Given the description of an element on the screen output the (x, y) to click on. 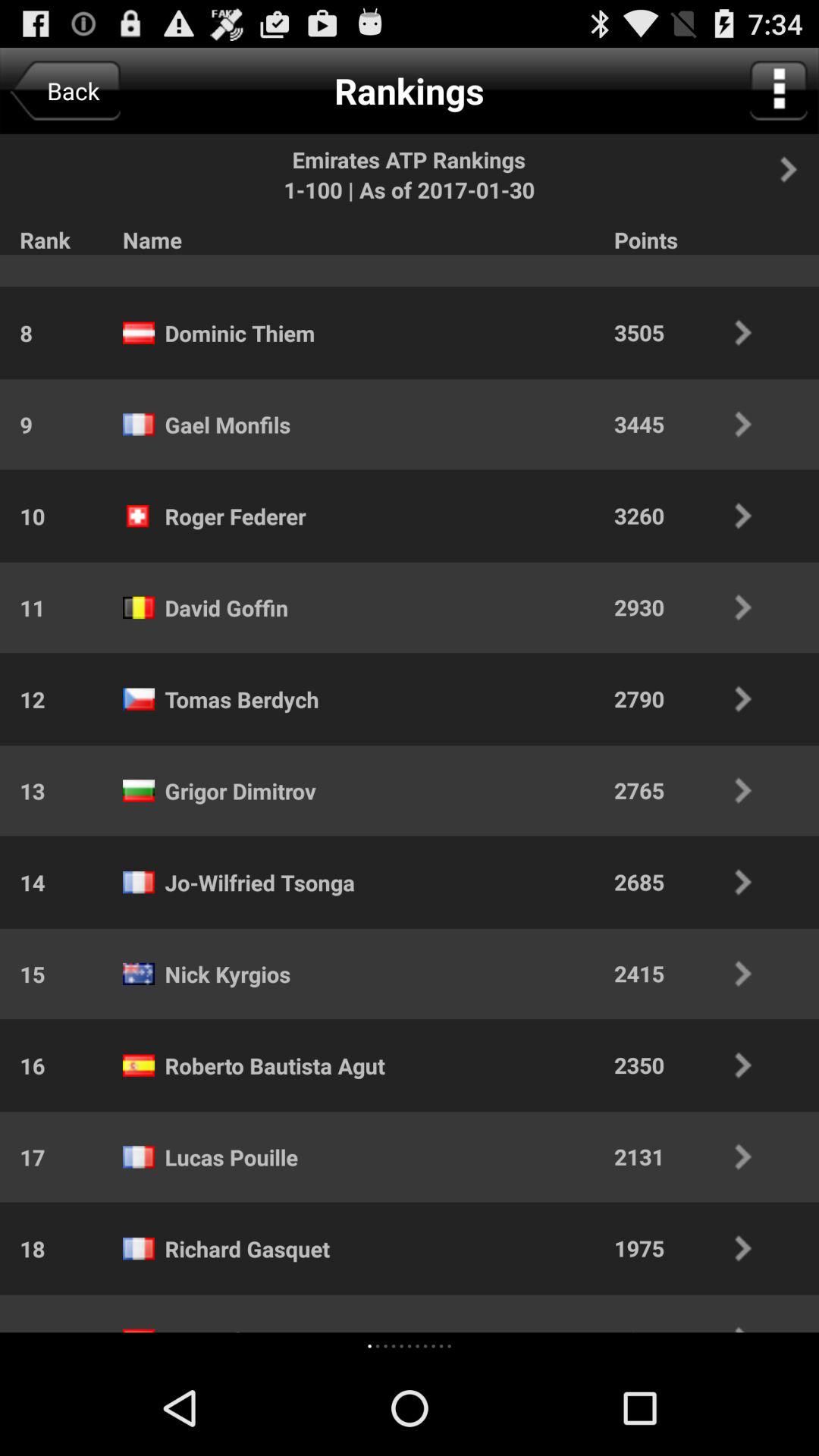
click the app to the left of points app (217, 255)
